Given the description of an element on the screen output the (x, y) to click on. 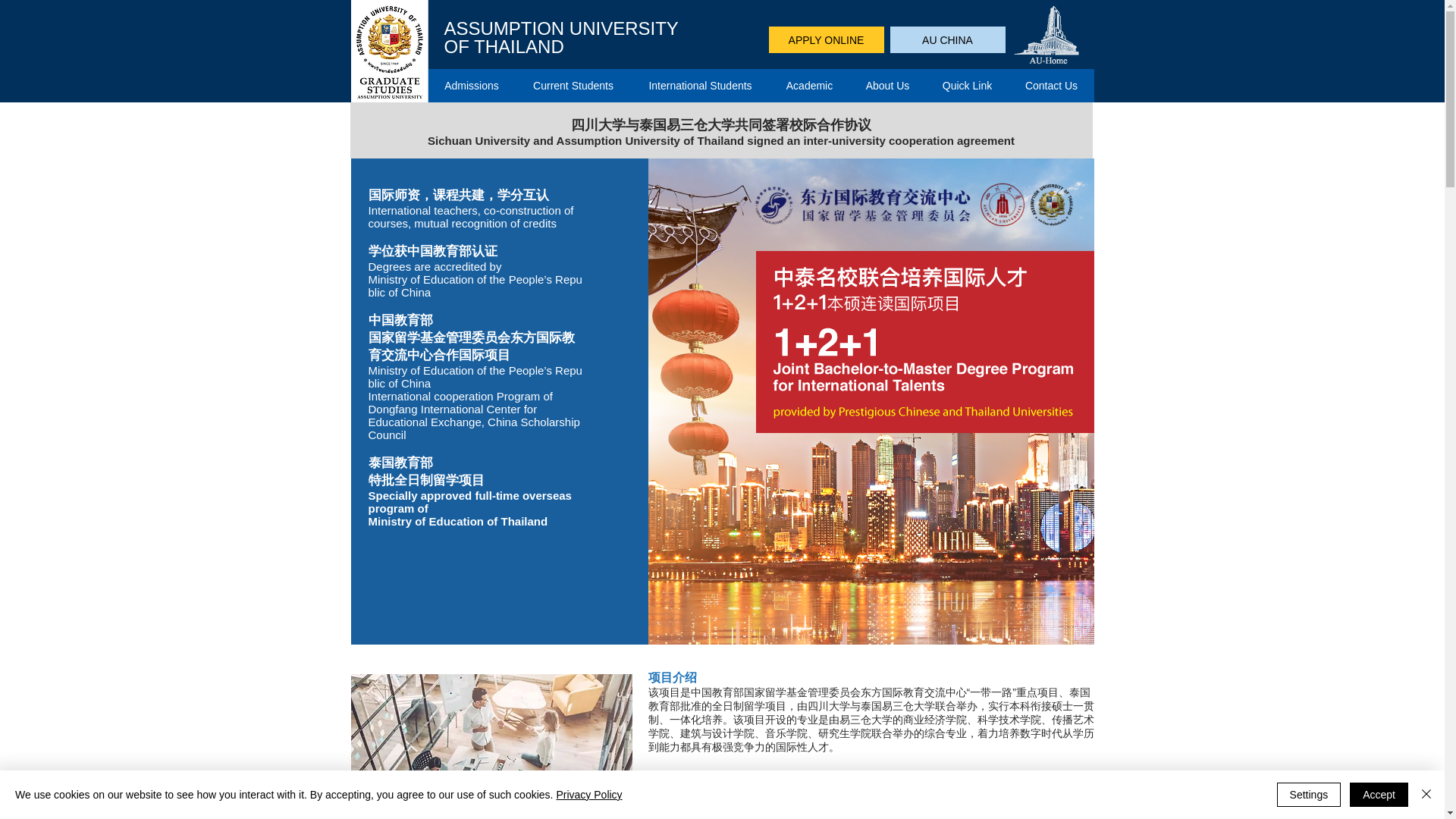
AU CHINA (947, 39)
Academic (808, 85)
APPLY ONLINE (825, 39)
